Given the description of an element on the screen output the (x, y) to click on. 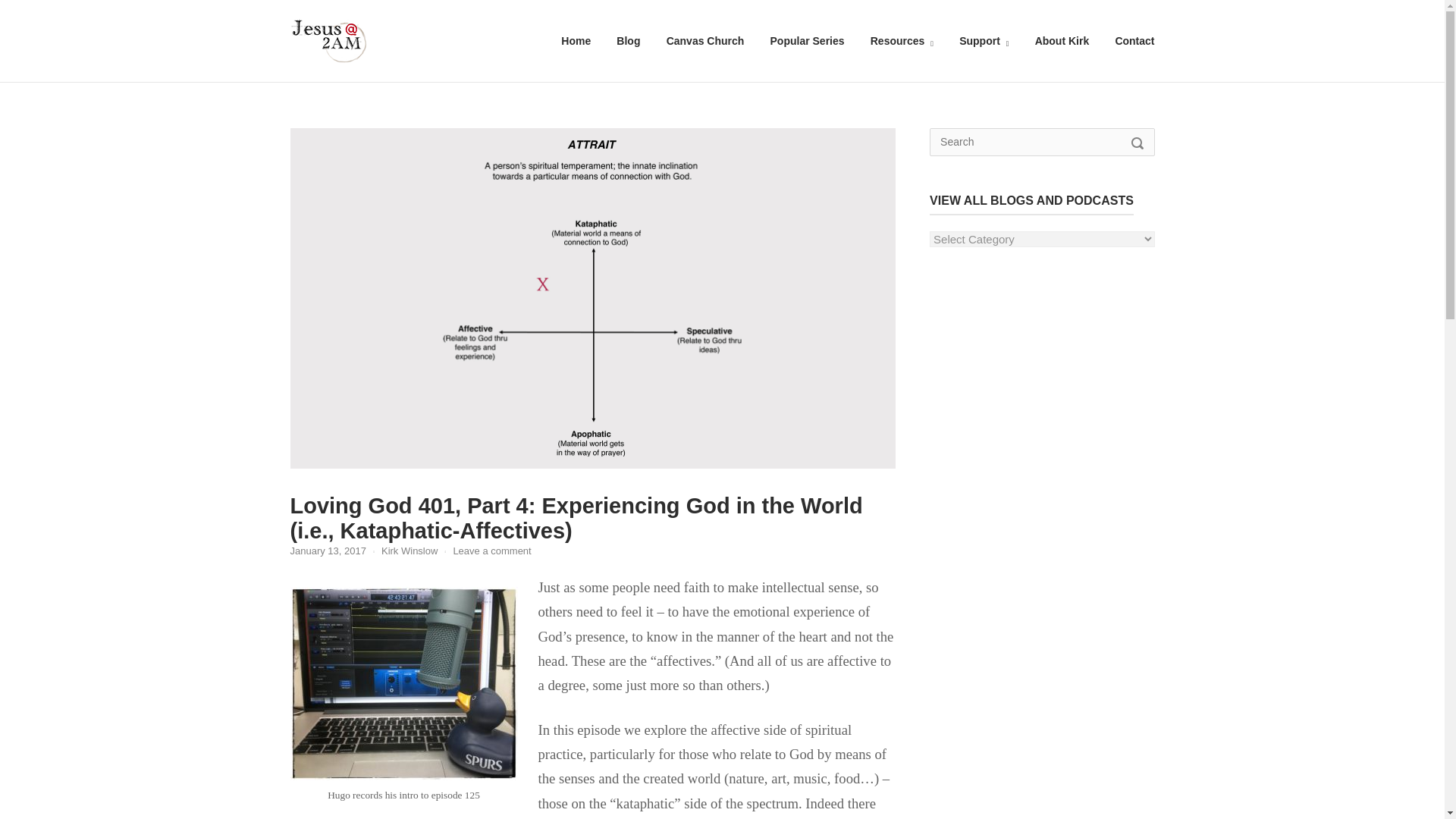
Leave a comment (491, 550)
Kirk Winslow (409, 550)
Popular Series (807, 40)
Canvas Church (705, 40)
Support (984, 40)
Contact (1134, 40)
Blog (627, 40)
Home (575, 40)
Home (327, 39)
About Kirk (1062, 40)
